Given the description of an element on the screen output the (x, y) to click on. 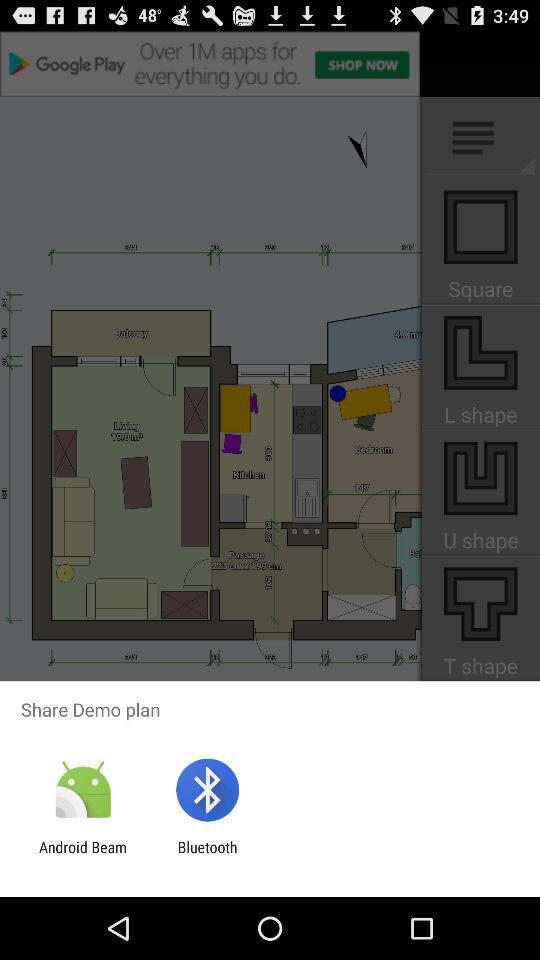
press the icon next to the android beam (207, 856)
